Given the description of an element on the screen output the (x, y) to click on. 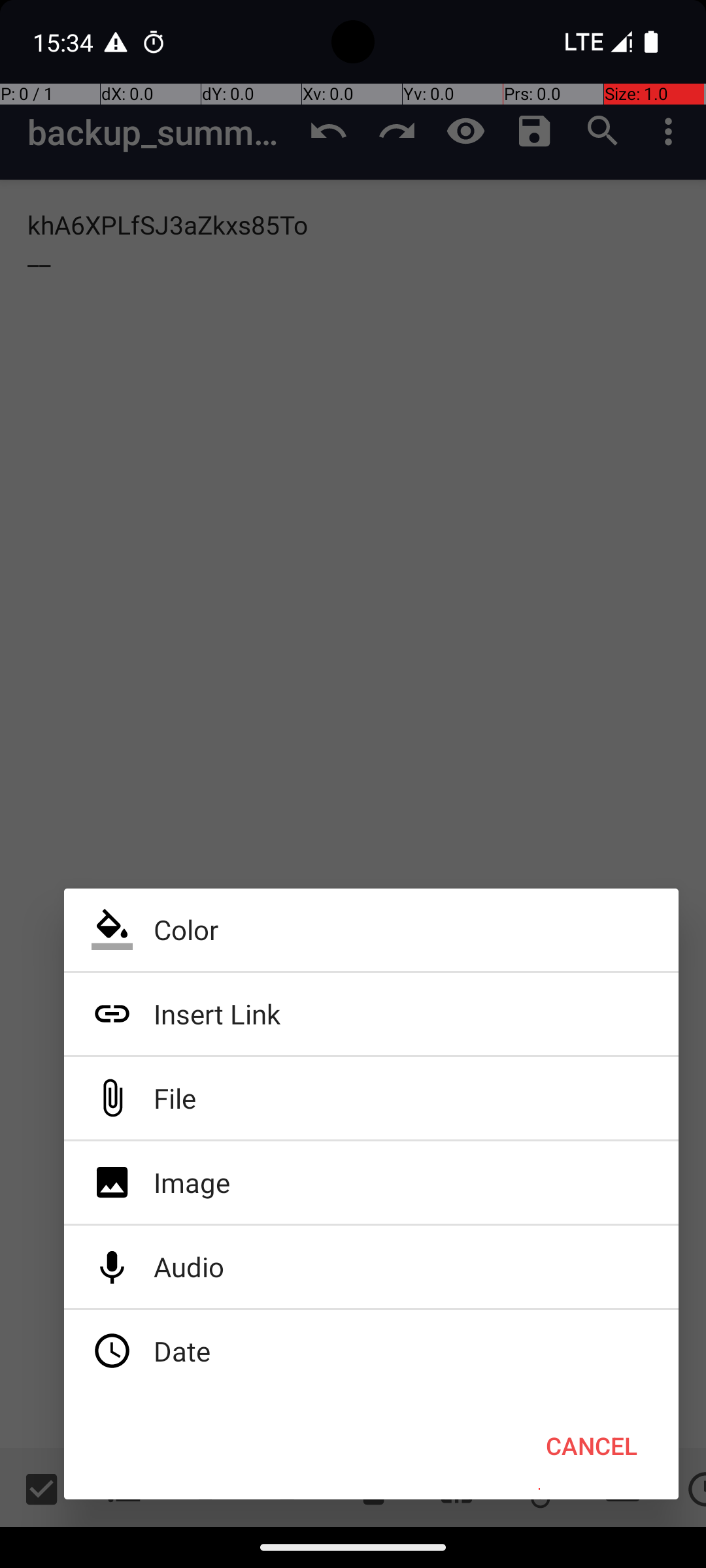
Color Element type: android.widget.TextView (371, 929)
Insert Link Element type: android.widget.TextView (371, 1013)
File Element type: android.widget.TextView (371, 1098)
Image Element type: android.widget.TextView (371, 1182)
